Given the description of an element on the screen output the (x, y) to click on. 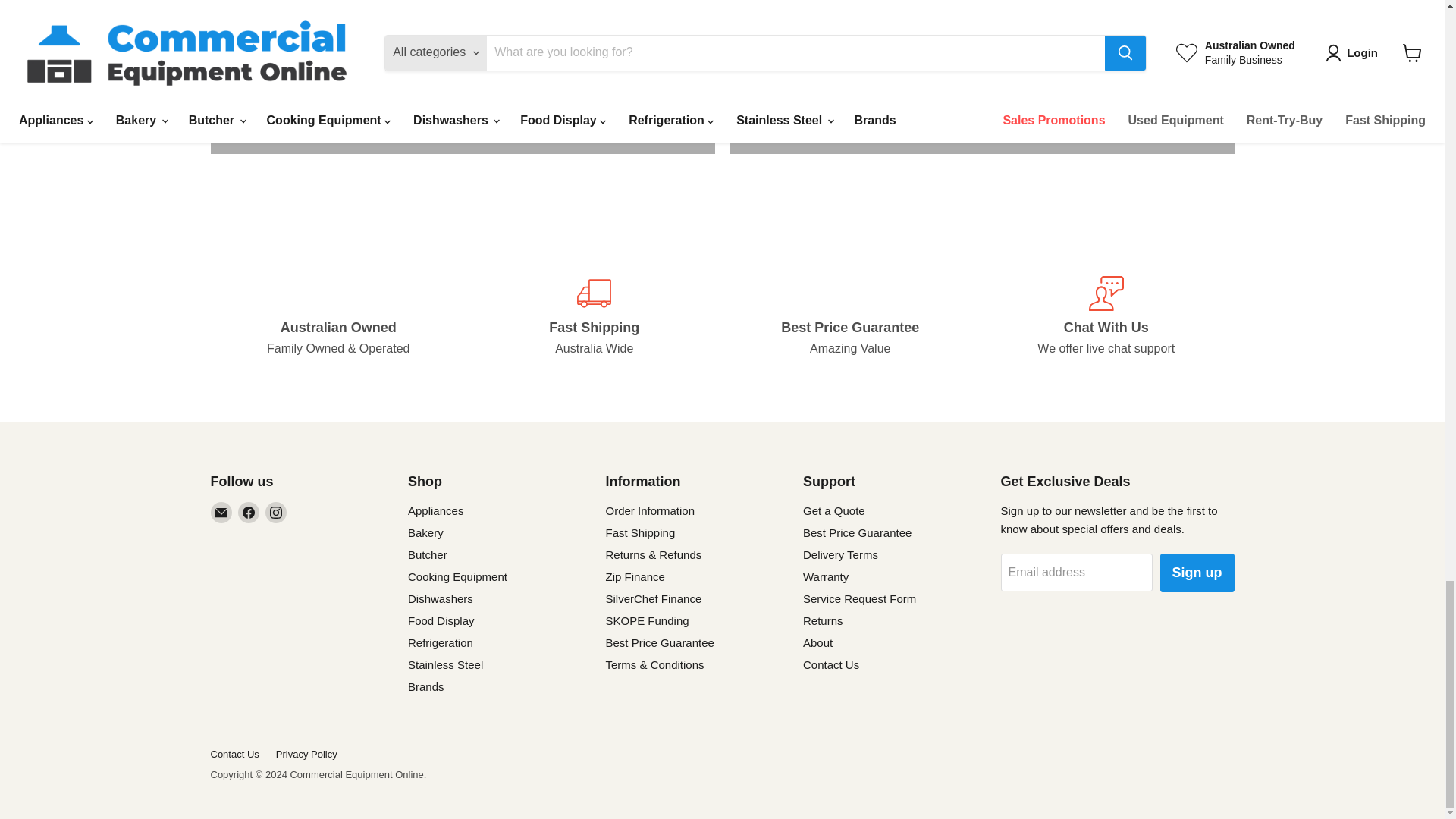
Email (221, 512)
